Given the description of an element on the screen output the (x, y) to click on. 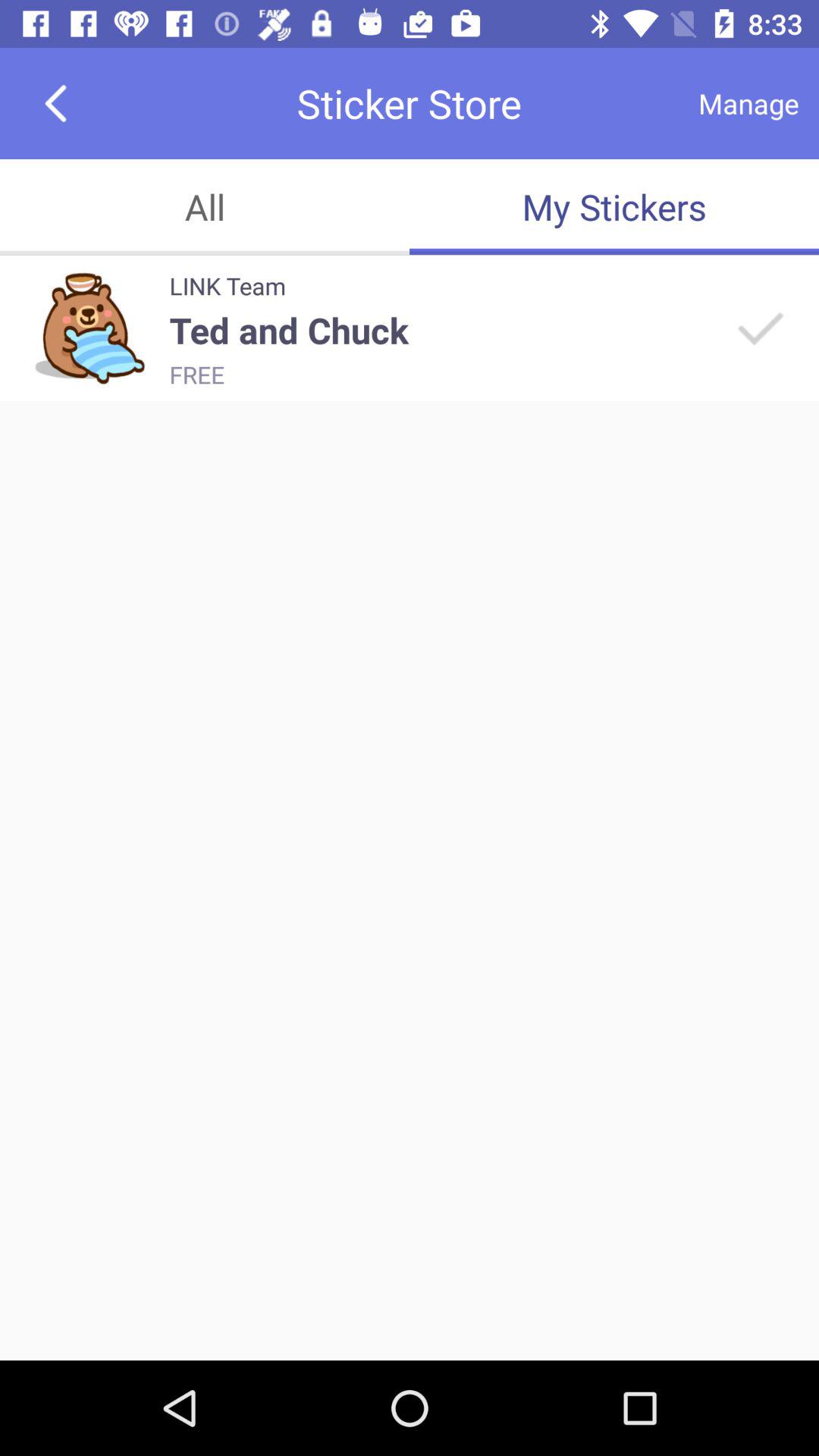
turn off the app above the my stickers item (748, 103)
